Given the description of an element on the screen output the (x, y) to click on. 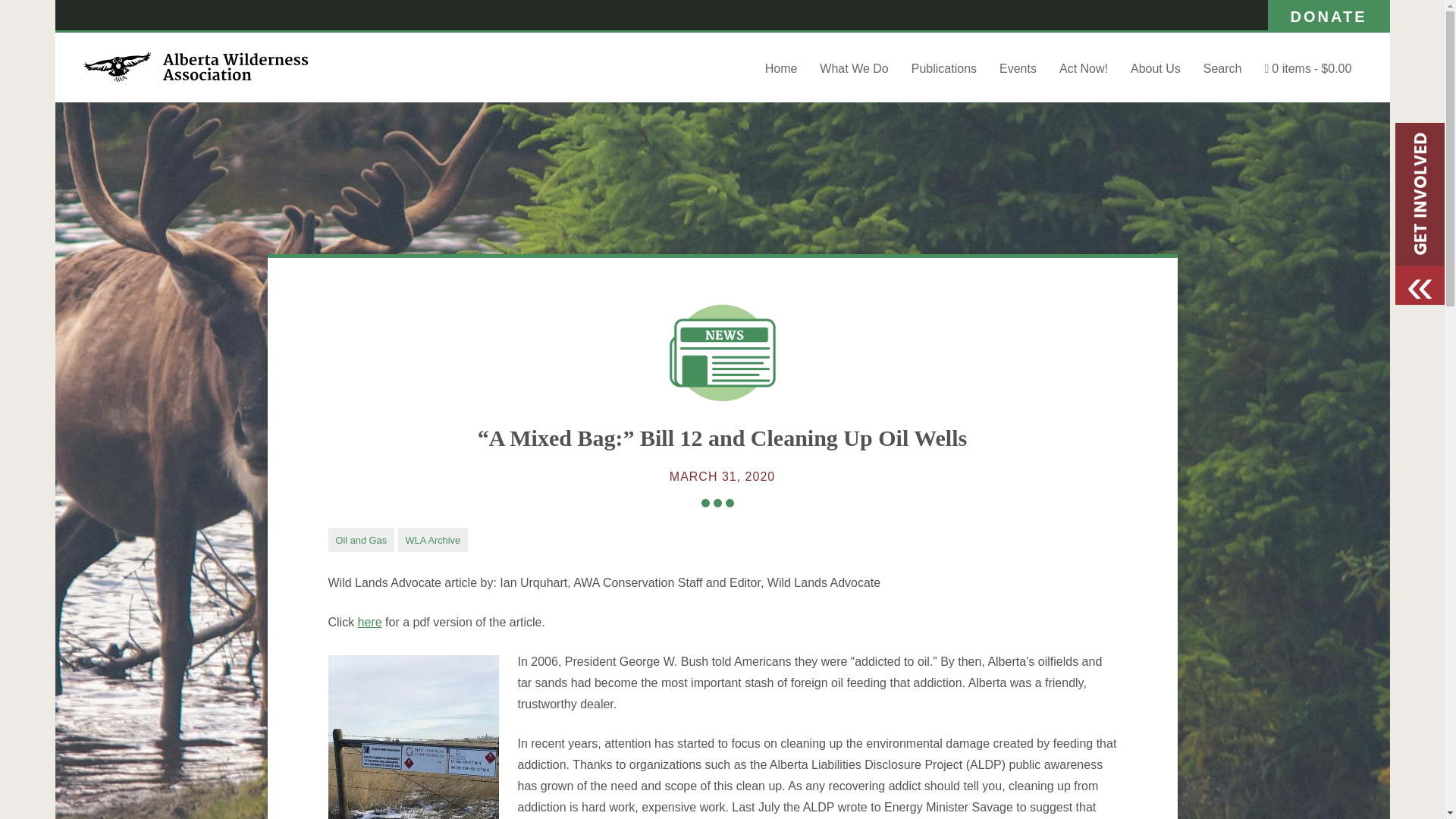
AWA Home (194, 78)
DONATE (1329, 15)
Donate (1329, 15)
Start shopping (1308, 68)
What We Do (853, 68)
